Given the description of an element on the screen output the (x, y) to click on. 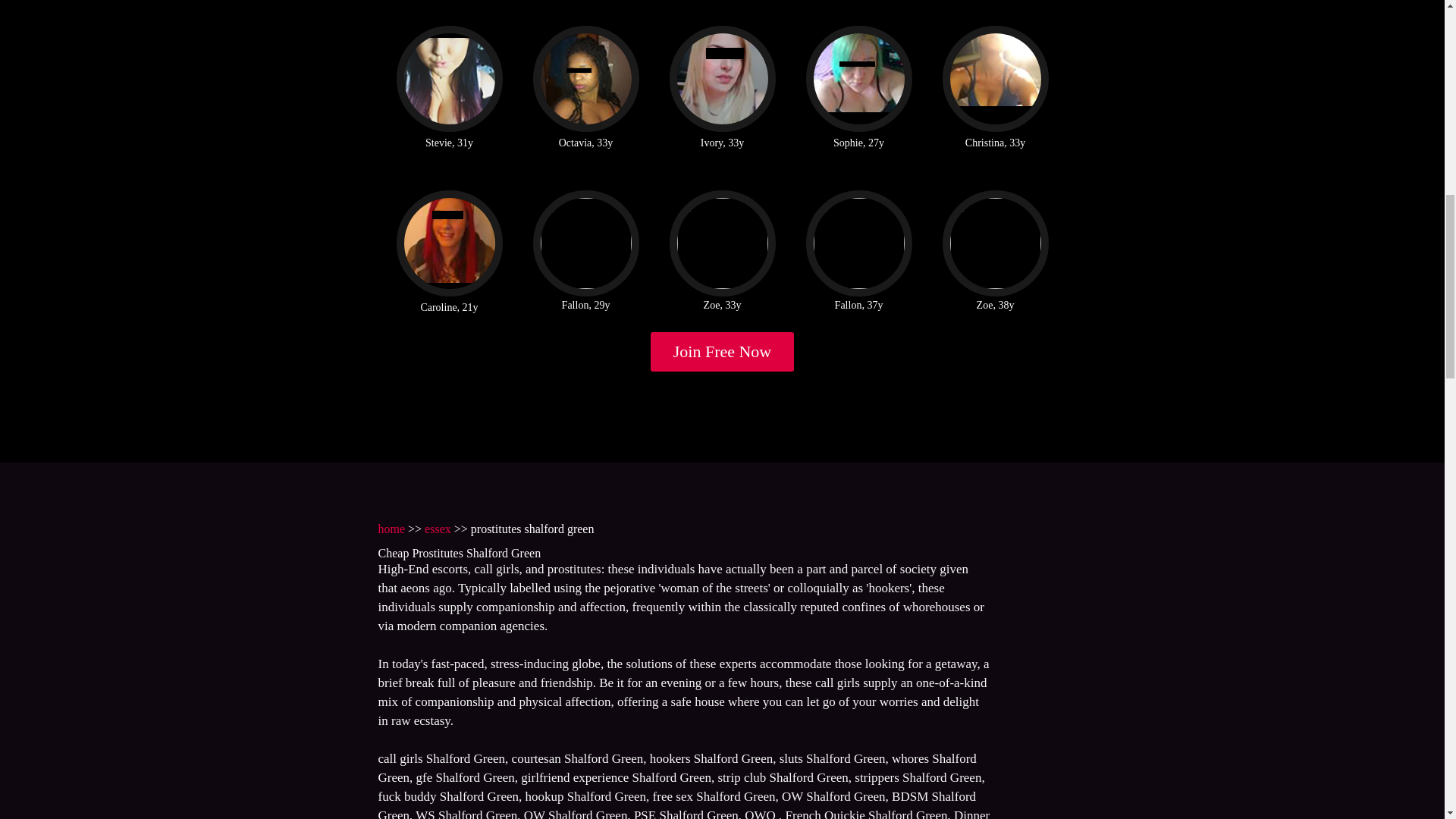
Join (722, 351)
Join Free Now (722, 351)
home (390, 528)
essex (438, 528)
